Given the description of an element on the screen output the (x, y) to click on. 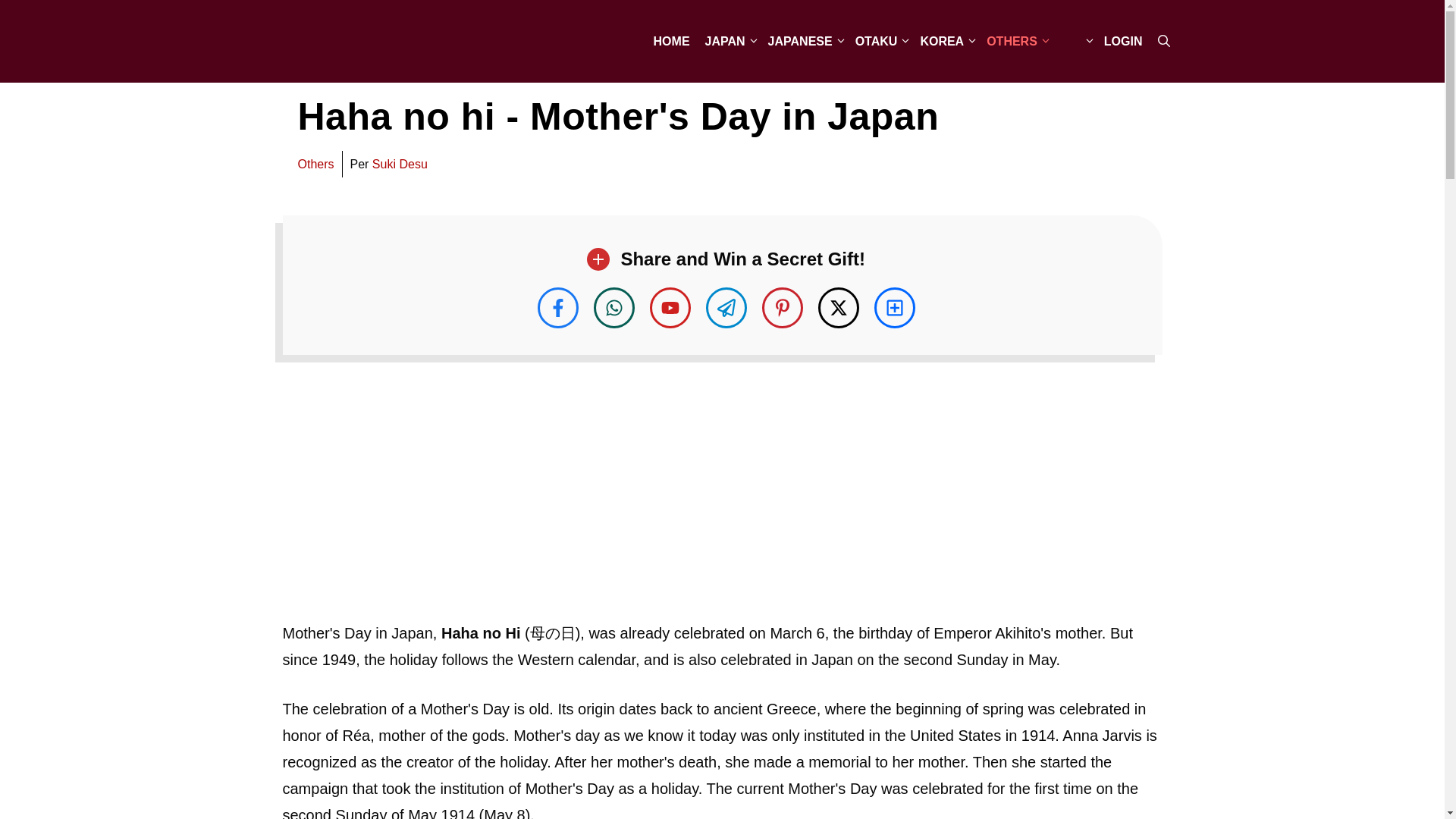
disable (1074, 41)
JAPAN (728, 41)
OTHERS (1015, 41)
English (1070, 40)
KOREA (945, 41)
OTAKU (879, 41)
HOME (671, 41)
JAPANESE (803, 41)
